Given the description of an element on the screen output the (x, y) to click on. 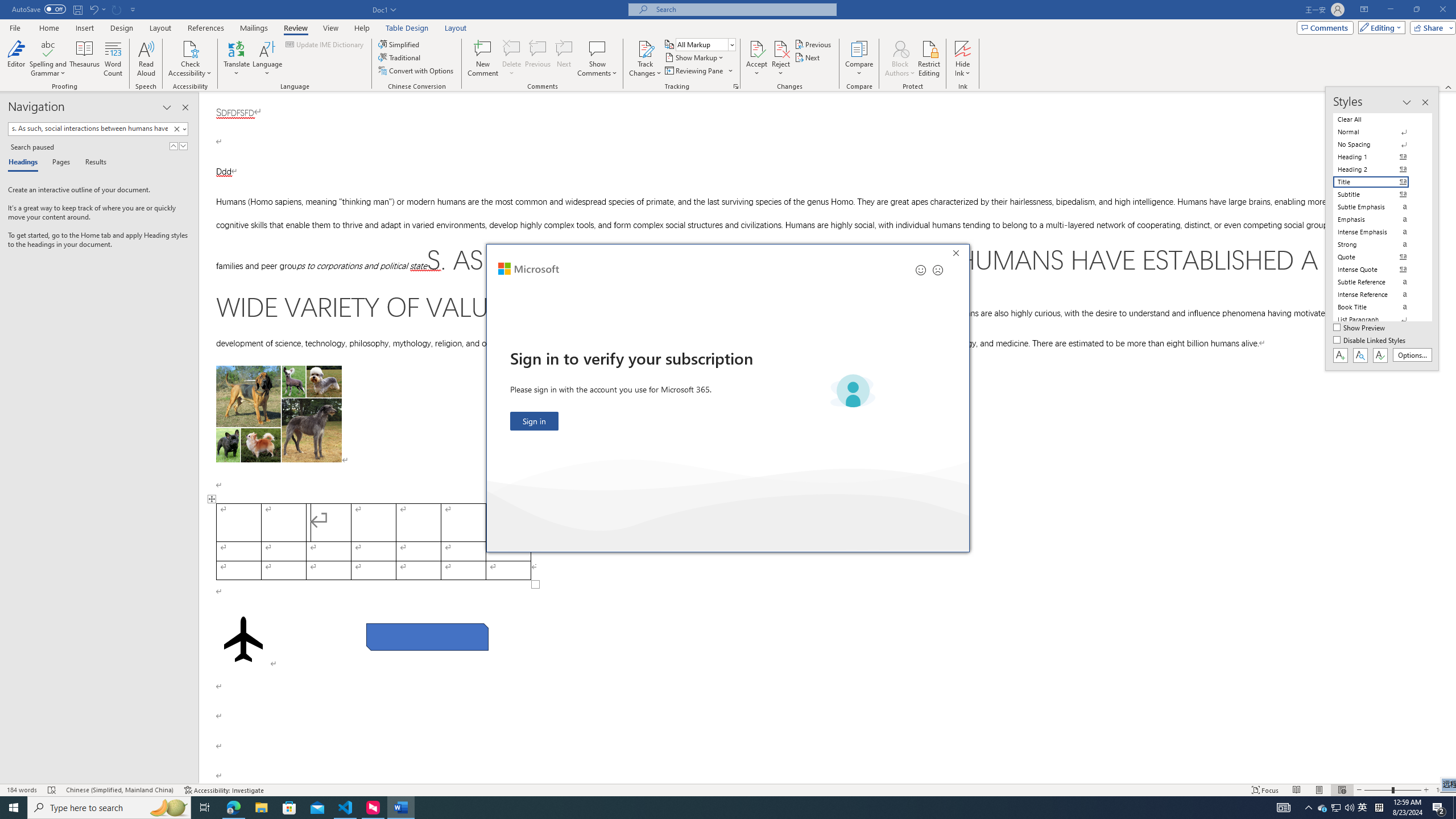
Quote (1377, 256)
Undo Style (96, 9)
List Paragraph (1377, 319)
Book Title (1377, 306)
Reviewing Pane (694, 69)
Clear (178, 128)
